Given the description of an element on the screen output the (x, y) to click on. 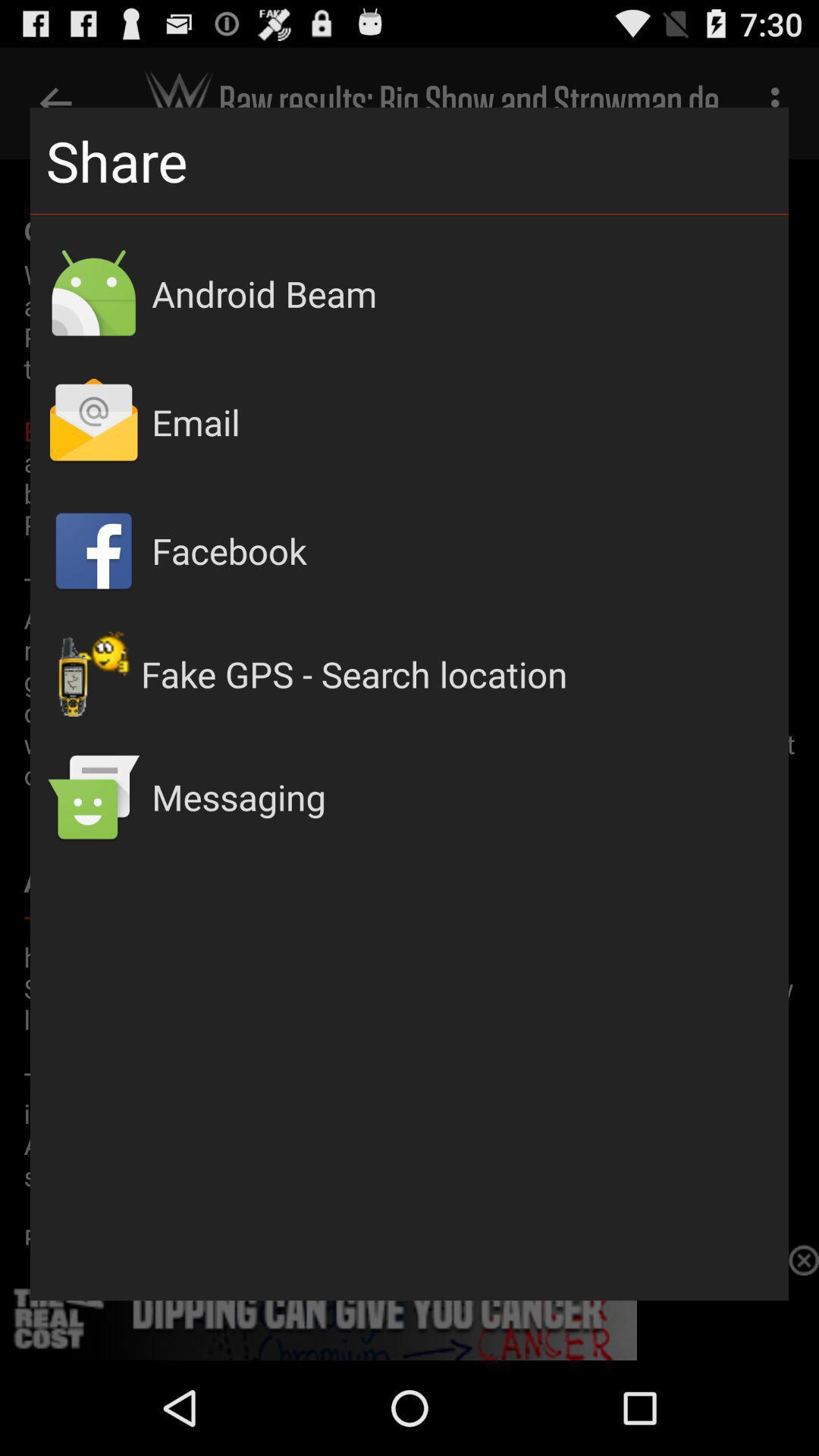
turn on email icon (461, 422)
